Given the description of an element on the screen output the (x, y) to click on. 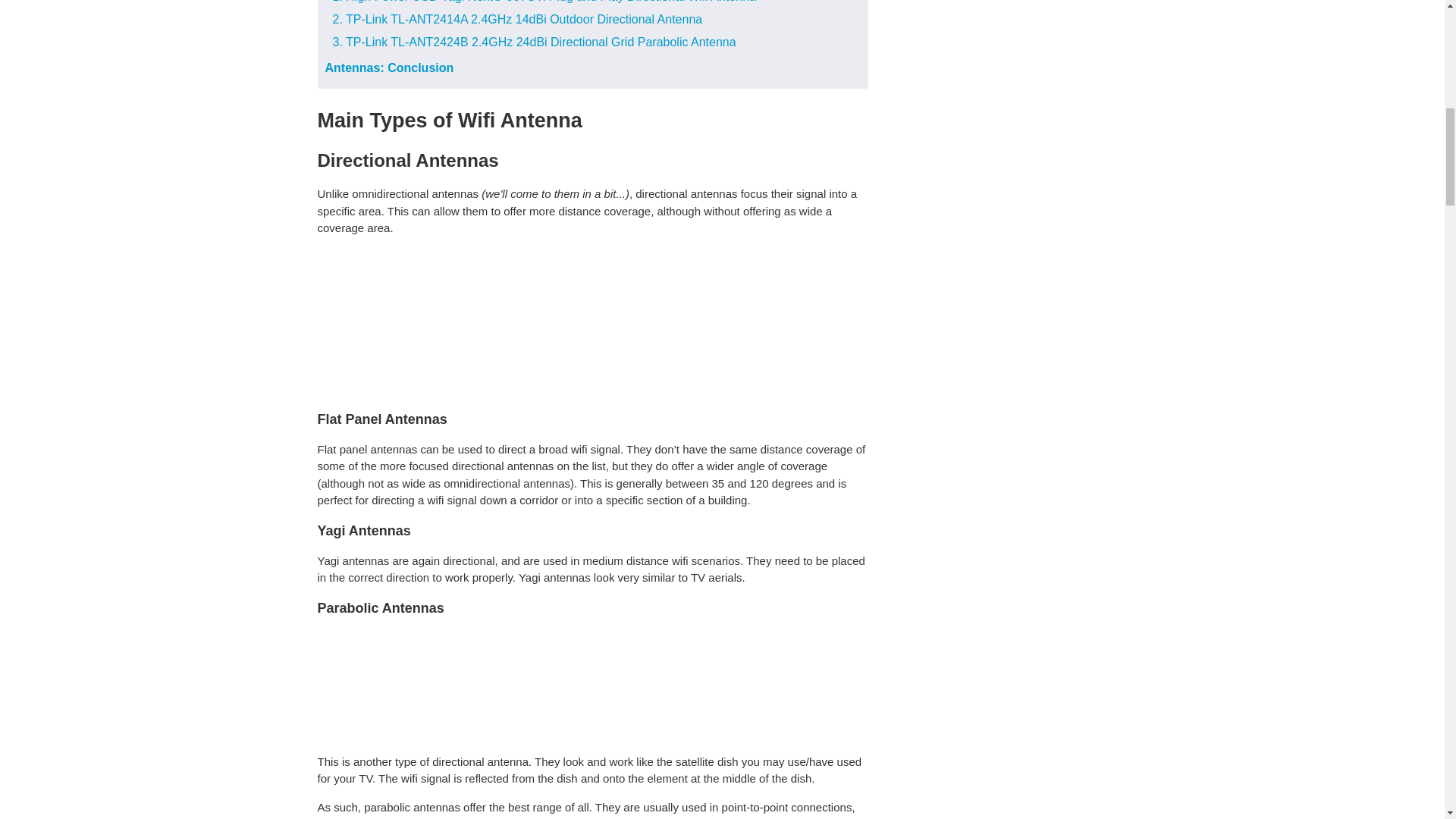
Antennas: Conclusion (388, 67)
